Given the description of an element on the screen output the (x, y) to click on. 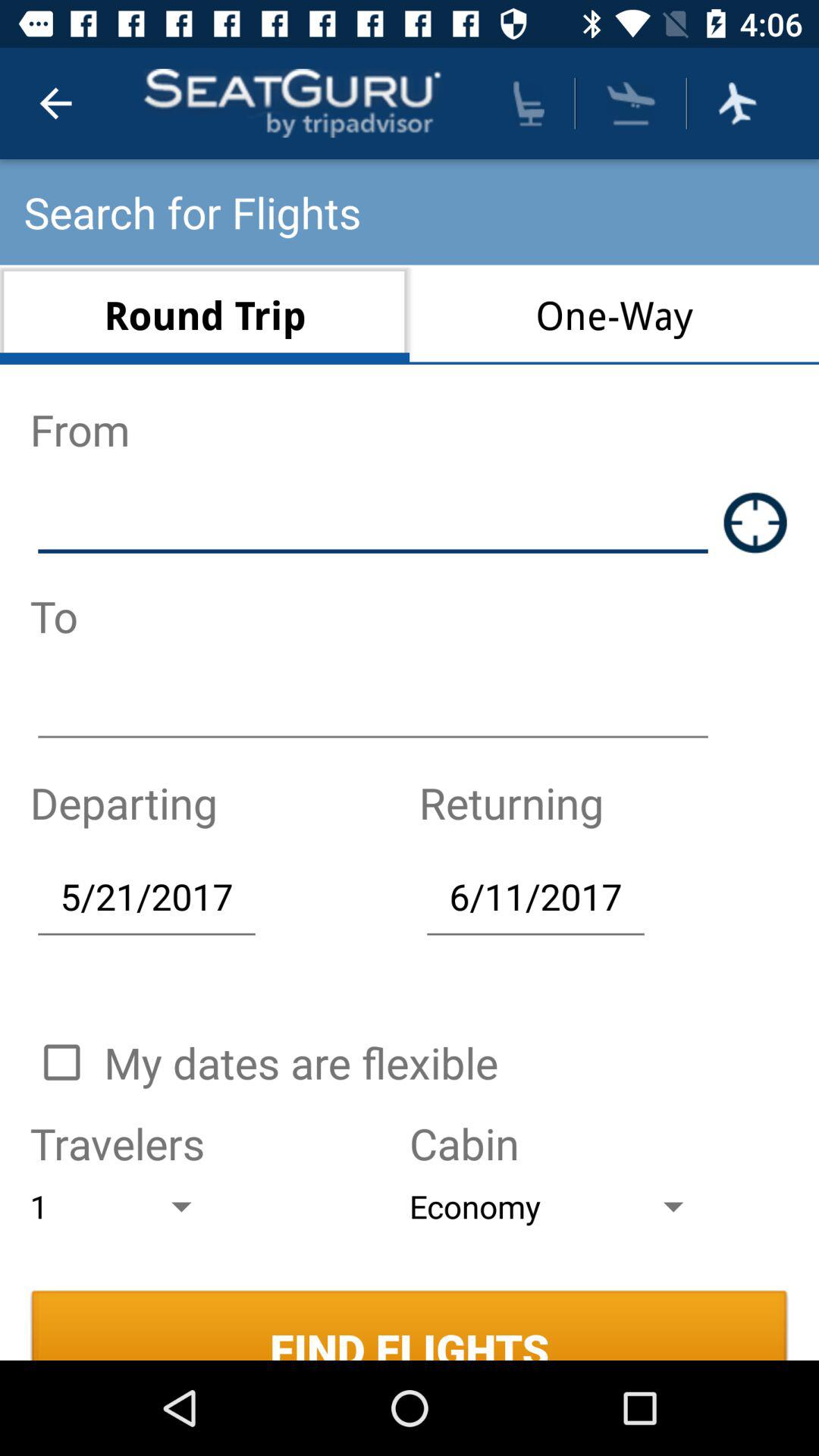
plan seating (528, 103)
